Given the description of an element on the screen output the (x, y) to click on. 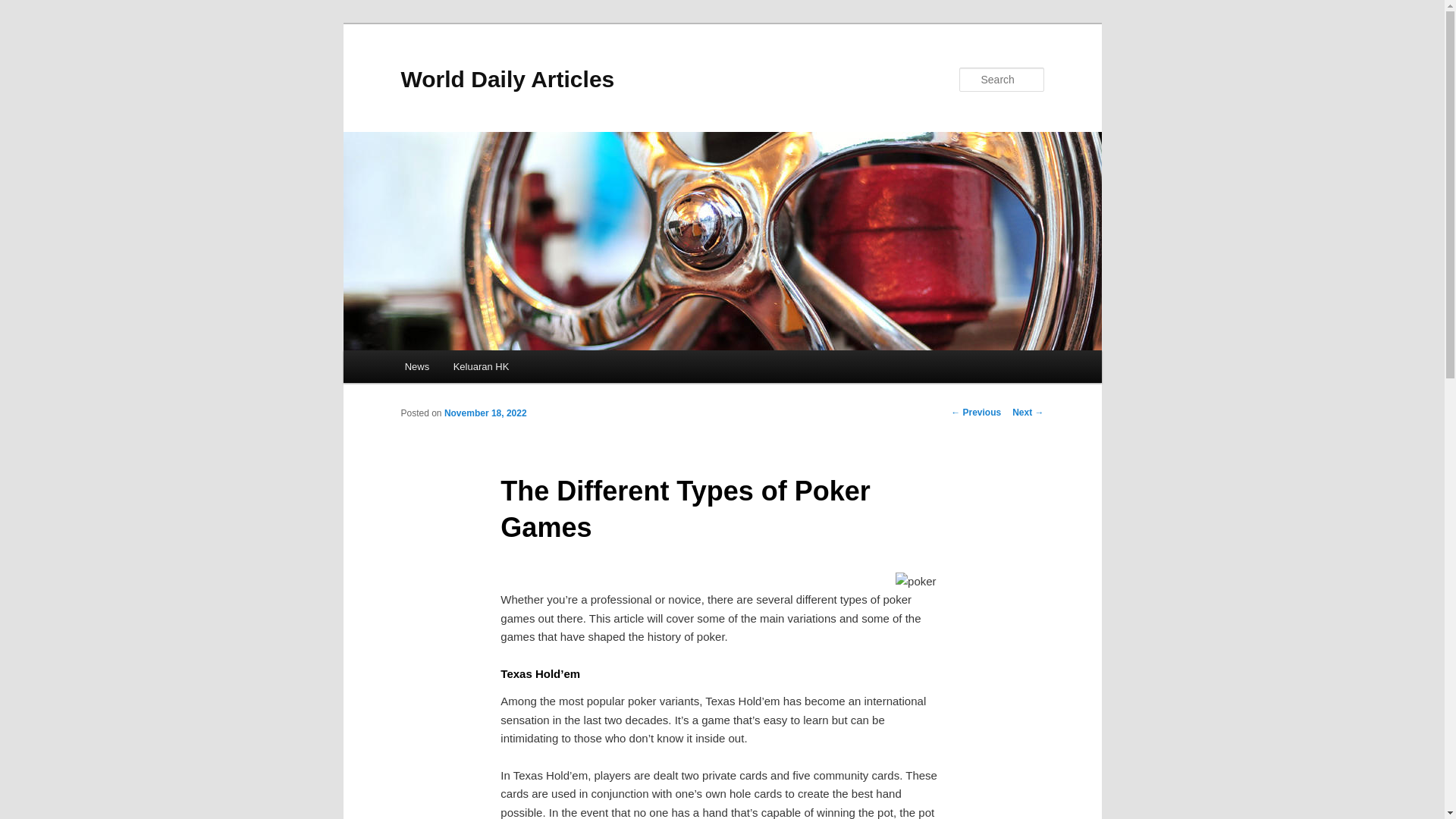
World Daily Articles (507, 78)
News (417, 366)
Keluaran HK (481, 366)
November 18, 2022 (485, 412)
Search (24, 8)
4:30 pm (485, 412)
